Given the description of an element on the screen output the (x, y) to click on. 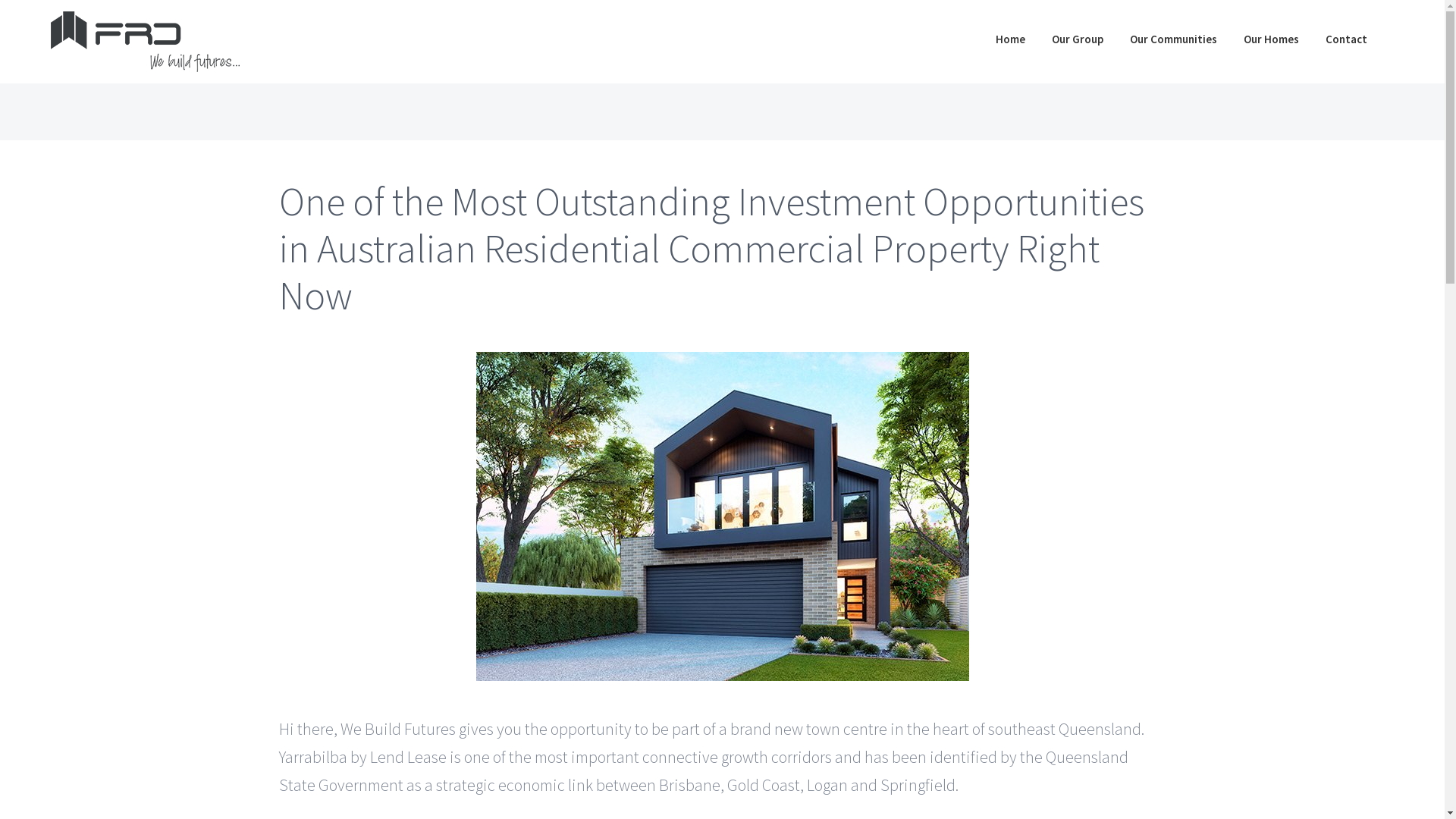
Our Group Element type: text (1077, 38)
Contact Element type: text (1346, 38)
Home Element type: text (1010, 38)
Our Communities Element type: text (1173, 38)
Our Homes Element type: text (1271, 38)
